Given the description of an element on the screen output the (x, y) to click on. 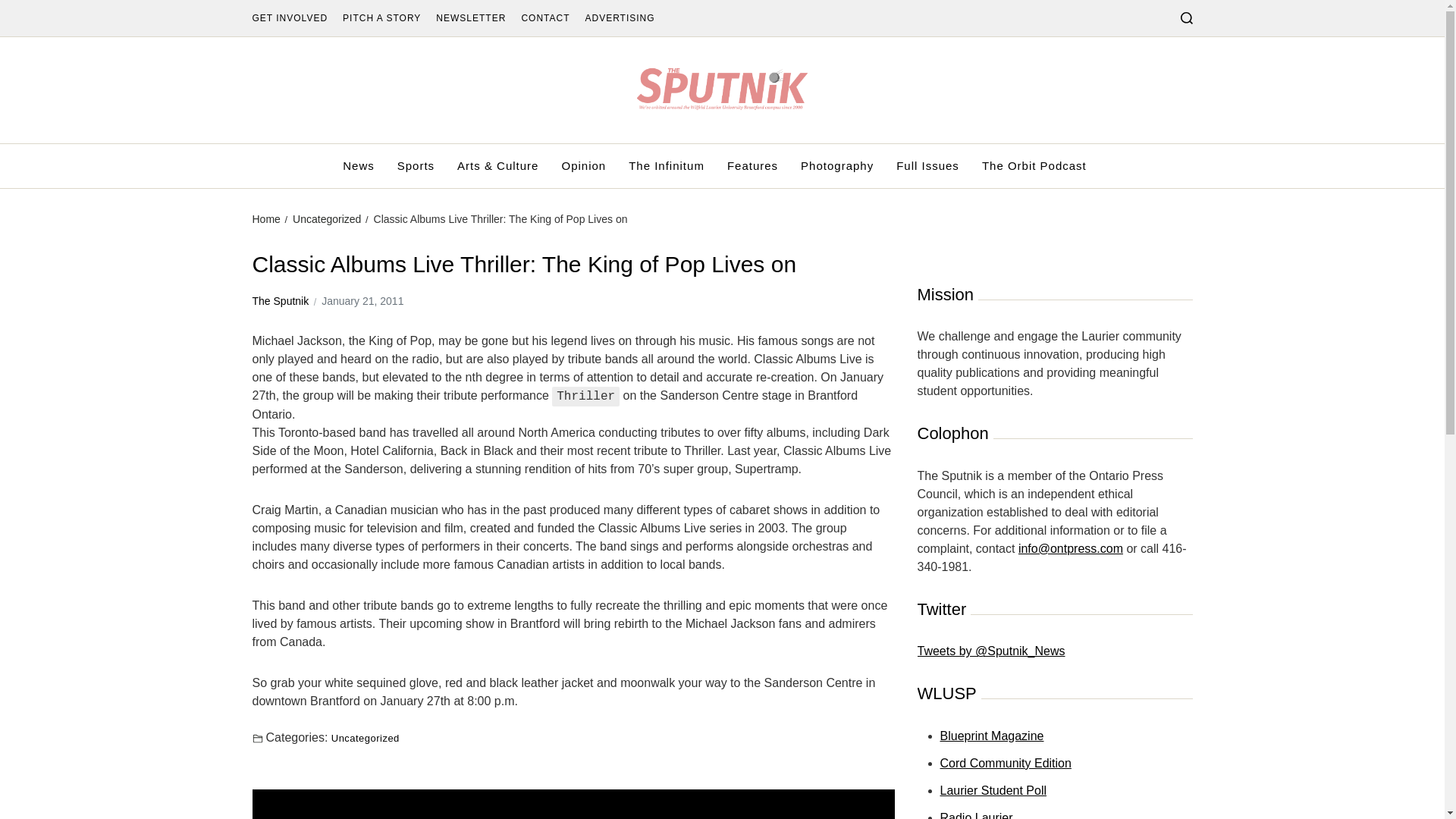
GET INVOLVED (289, 18)
Sports (415, 166)
NEWSLETTER (470, 18)
Radio Laurier (976, 815)
The Orbit Podcast (1033, 166)
Photography (836, 166)
The Sputnik (279, 301)
Home (572, 804)
Laurier Student Poll (265, 218)
News (993, 789)
Features (358, 166)
ADVERTISING (751, 166)
Opinion (619, 18)
CONTACT (582, 166)
